Given the description of an element on the screen output the (x, y) to click on. 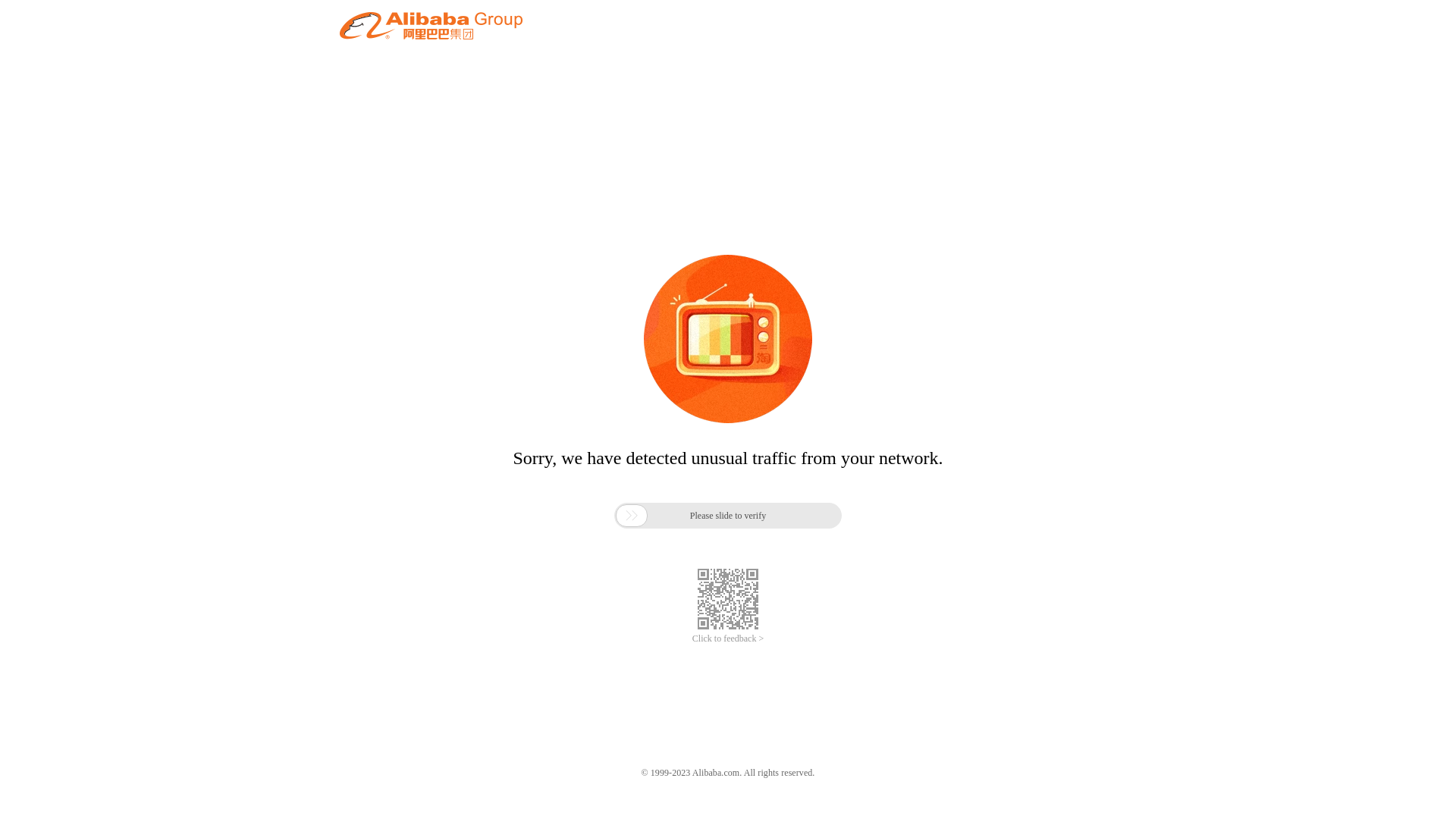
Click to feedback > Element type: text (727, 638)
